Given the description of an element on the screen output the (x, y) to click on. 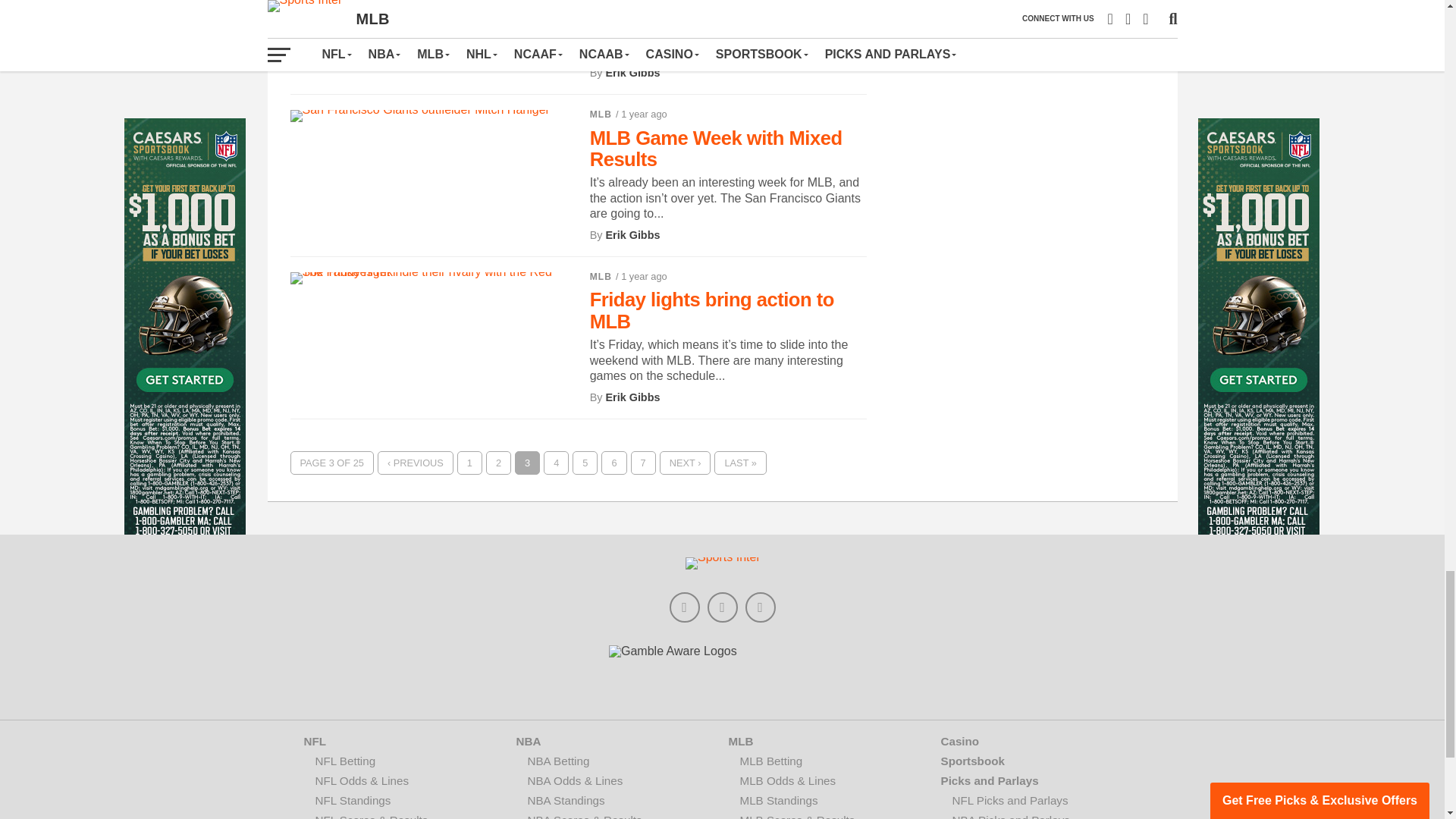
Posts by Erik Gibbs (632, 72)
Posts by Erik Gibbs (632, 234)
Posts by Erik Gibbs (632, 397)
